Given the description of an element on the screen output the (x, y) to click on. 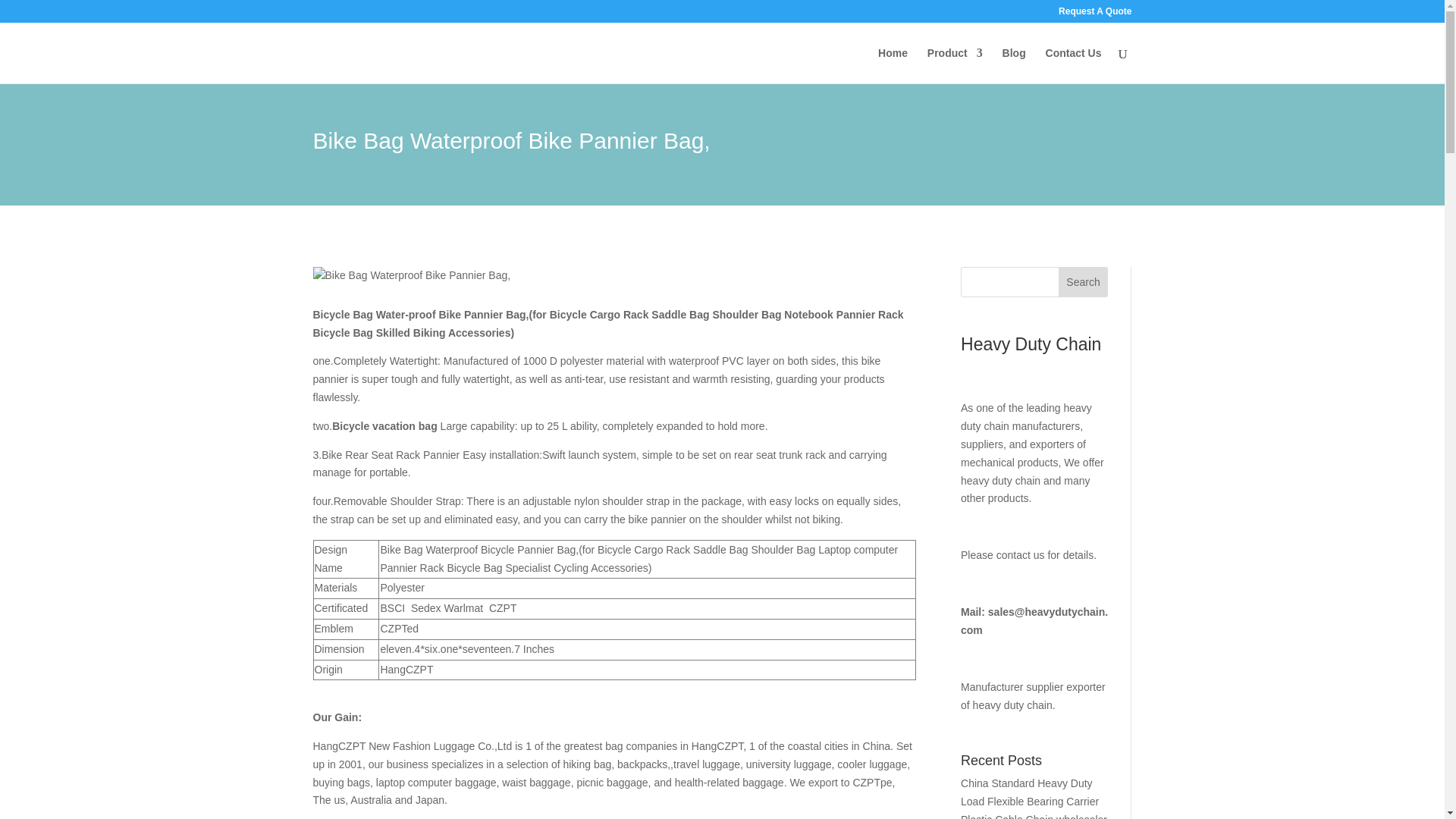
Search (1083, 281)
Search (1083, 281)
Bike Bag Waterproof Bike Pannier Bag,  (412, 275)
Product (954, 65)
Contact Us (1073, 65)
Request A Quote (1094, 14)
